Given the description of an element on the screen output the (x, y) to click on. 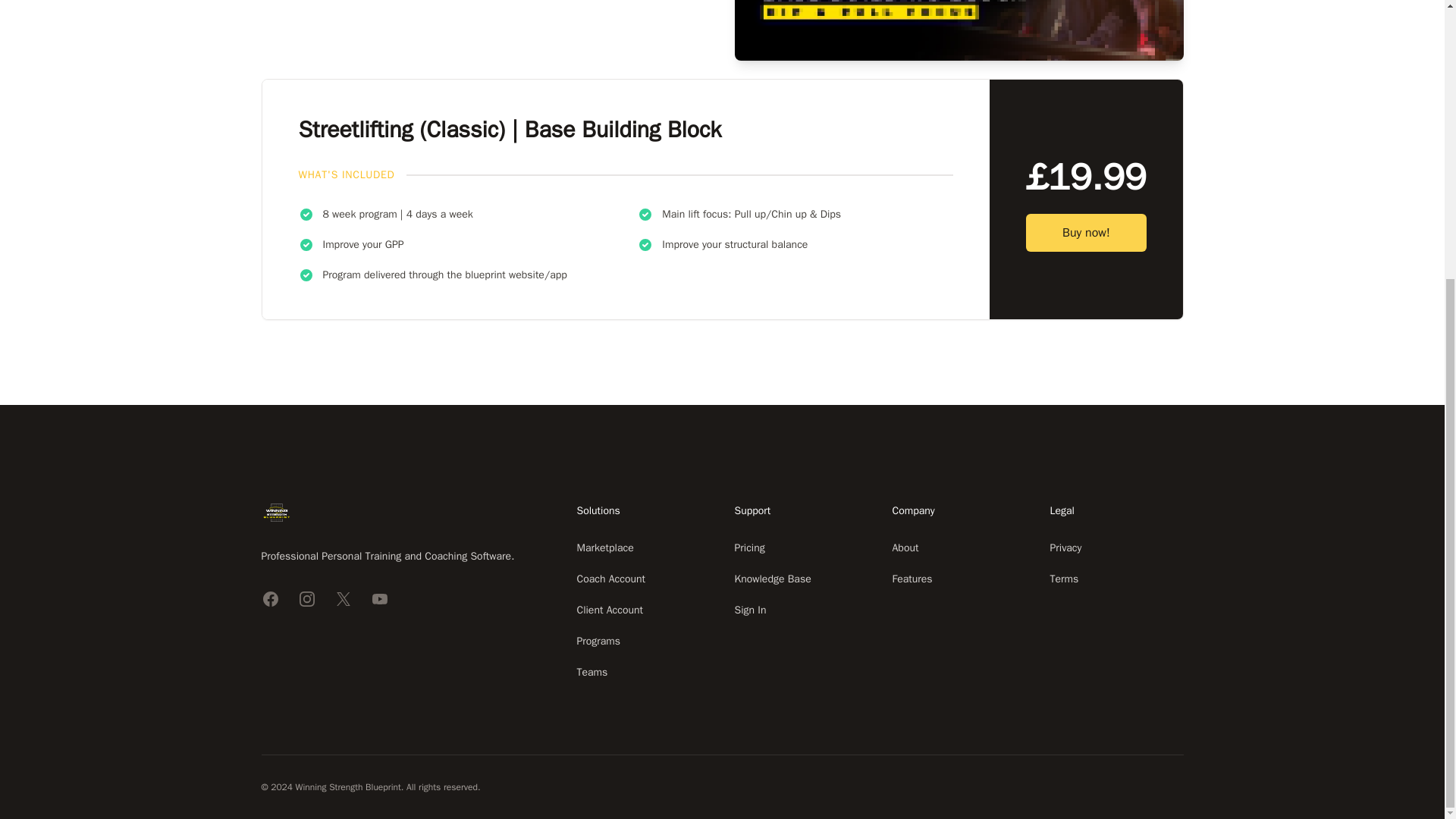
Marketplace (604, 547)
Pricing (748, 547)
Facebook (269, 598)
Terms (1063, 578)
X (342, 598)
Features (911, 578)
Coach Account (610, 578)
Teams (591, 671)
About (904, 547)
Knowledge Base (771, 578)
